Given the description of an element on the screen output the (x, y) to click on. 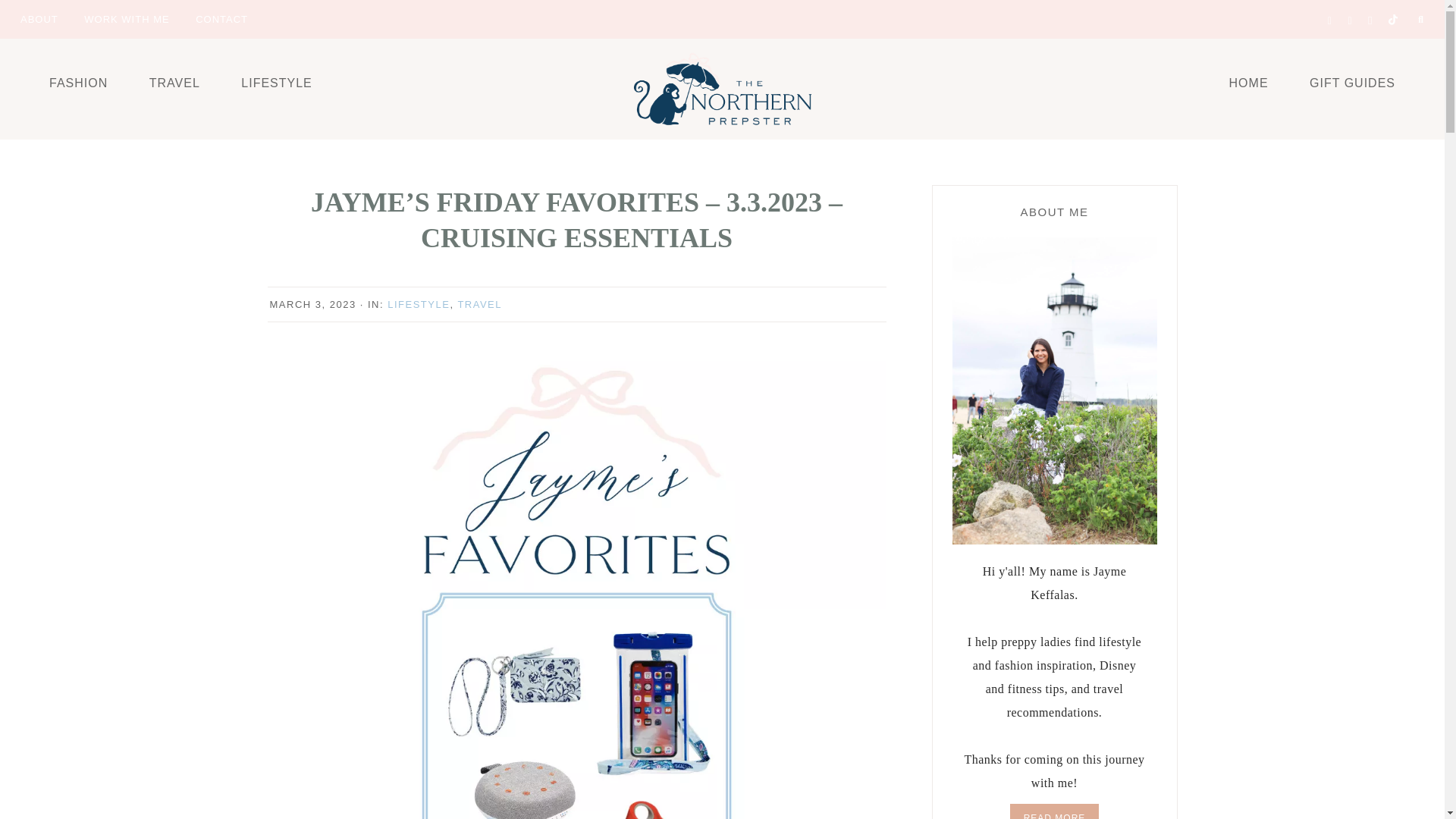
FASHION (78, 81)
CONTACT (221, 18)
WORK WITH ME (126, 18)
ABOUT (38, 18)
